Given the description of an element on the screen output the (x, y) to click on. 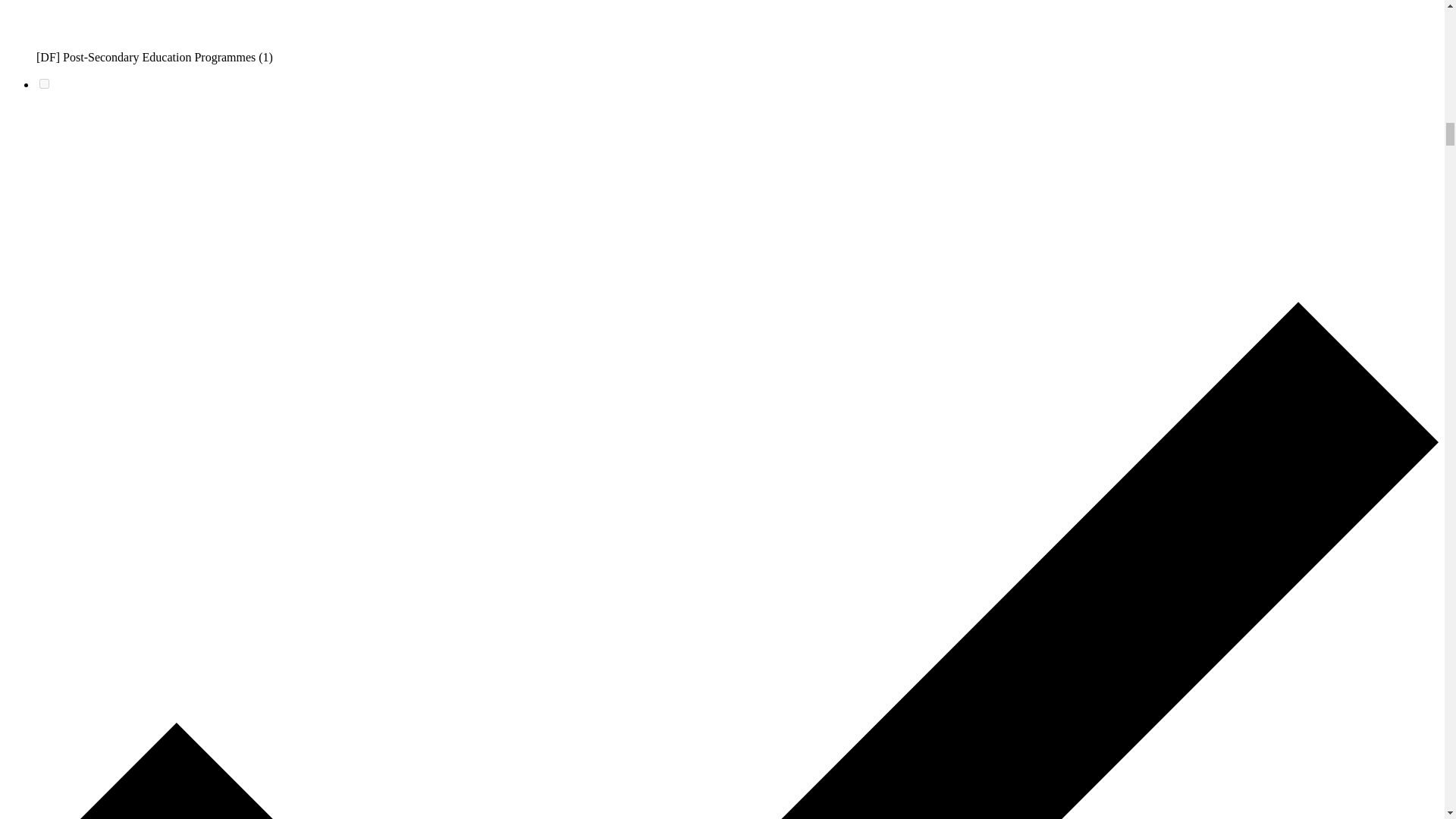
48 (44, 83)
